Given the description of an element on the screen output the (x, y) to click on. 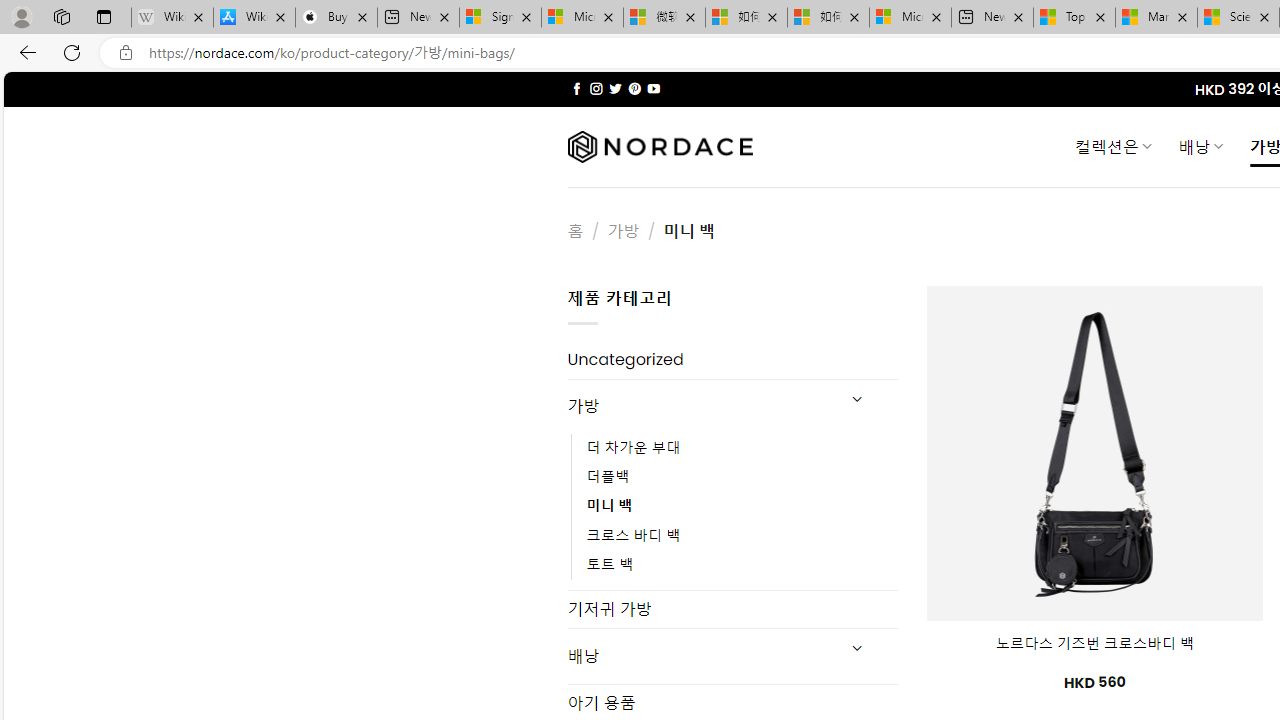
Sign in to your Microsoft account (500, 17)
Follow on Instagram (596, 88)
Follow on Twitter (615, 88)
